Given the description of an element on the screen output the (x, y) to click on. 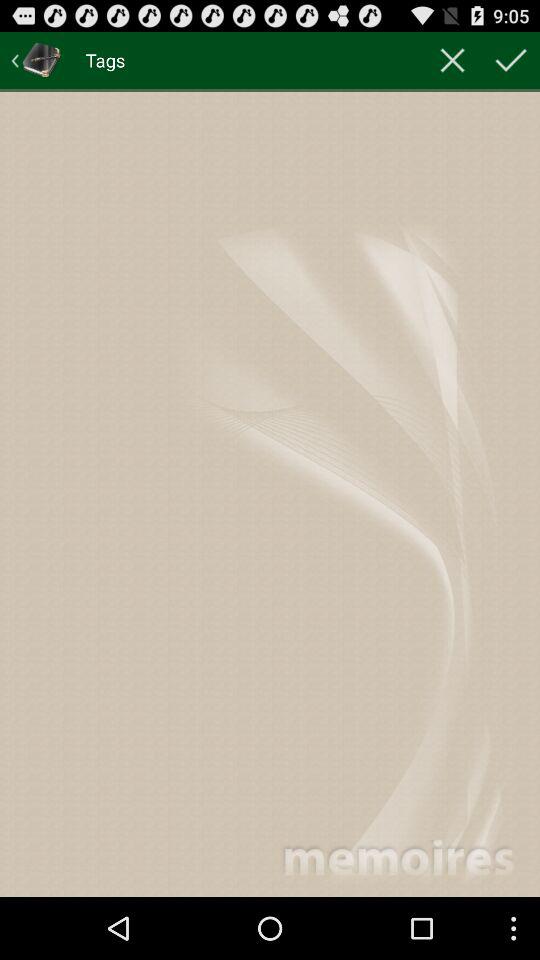
go back (36, 60)
